Given the description of an element on the screen output the (x, y) to click on. 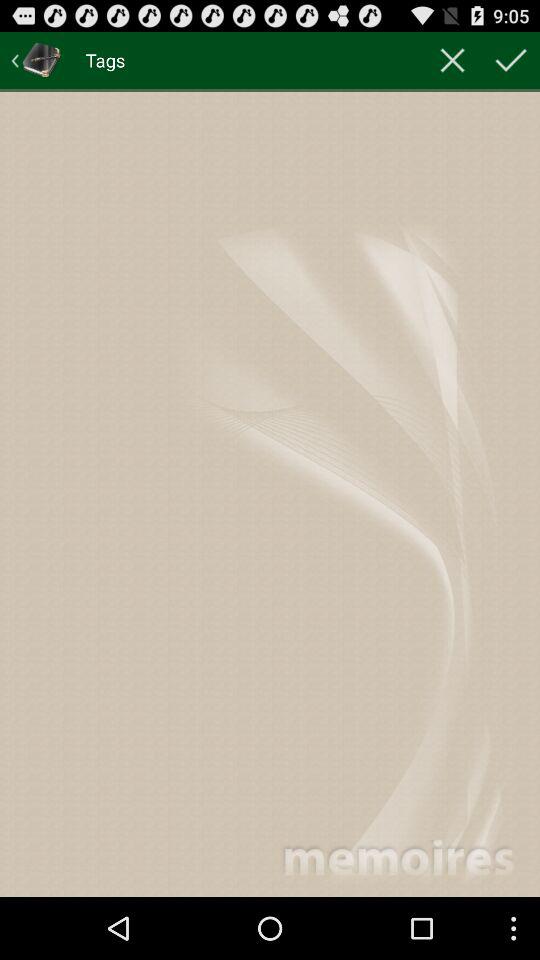
go back (36, 60)
